Given the description of an element on the screen output the (x, y) to click on. 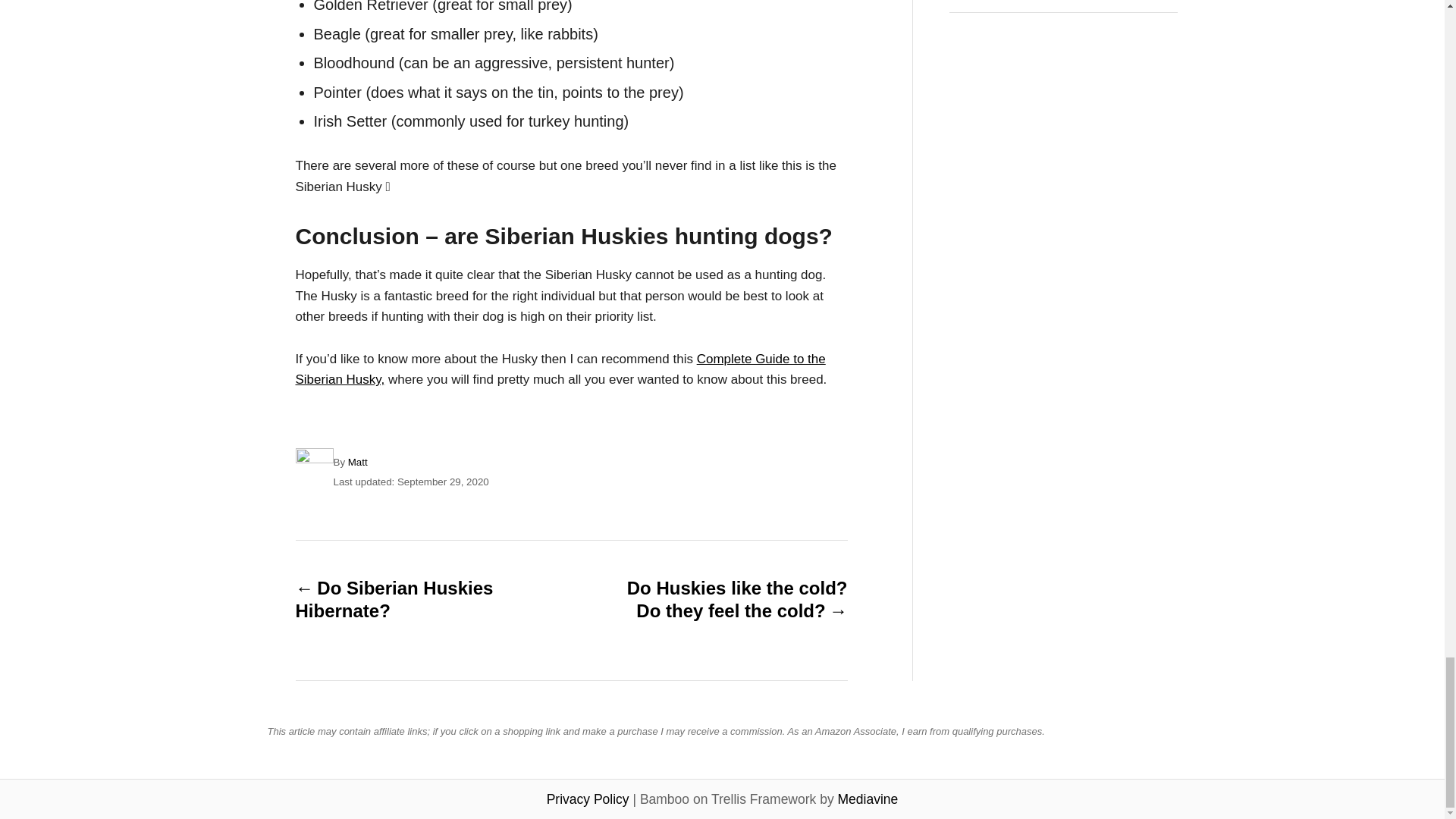
Matt (357, 461)
Privacy Policy (587, 798)
Mediavine (868, 798)
Complete Guide to the Siberian Husky, (560, 369)
Do Siberian Huskies Hibernate? (405, 599)
Do Huskies like the cold? Do they feel the cold? (736, 599)
